Given the description of an element on the screen output the (x, y) to click on. 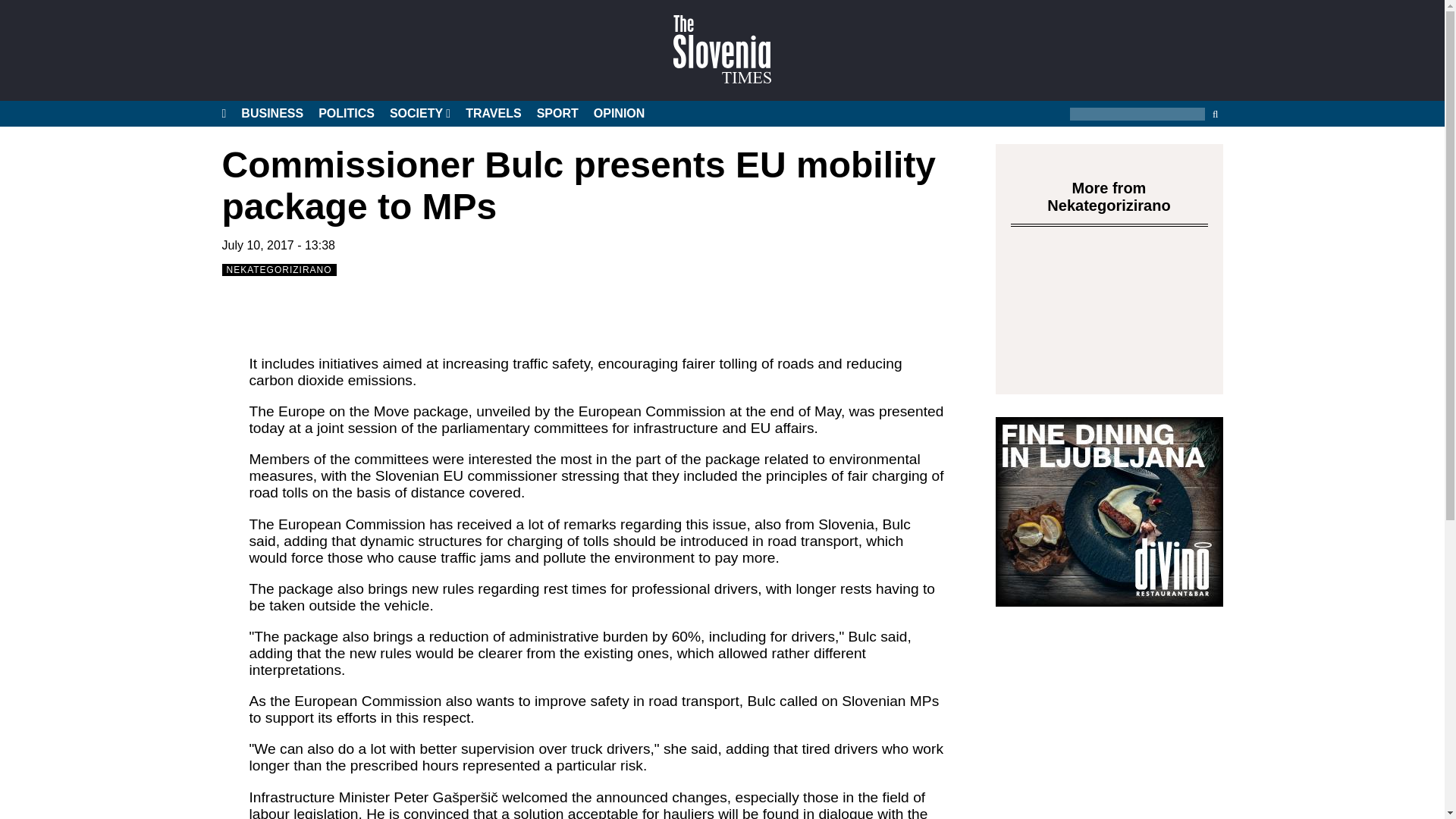
TRAVELS (493, 113)
POLITICS (346, 113)
SPORT (557, 113)
OPINION (619, 113)
BUSINESS (271, 113)
